Given the description of an element on the screen output the (x, y) to click on. 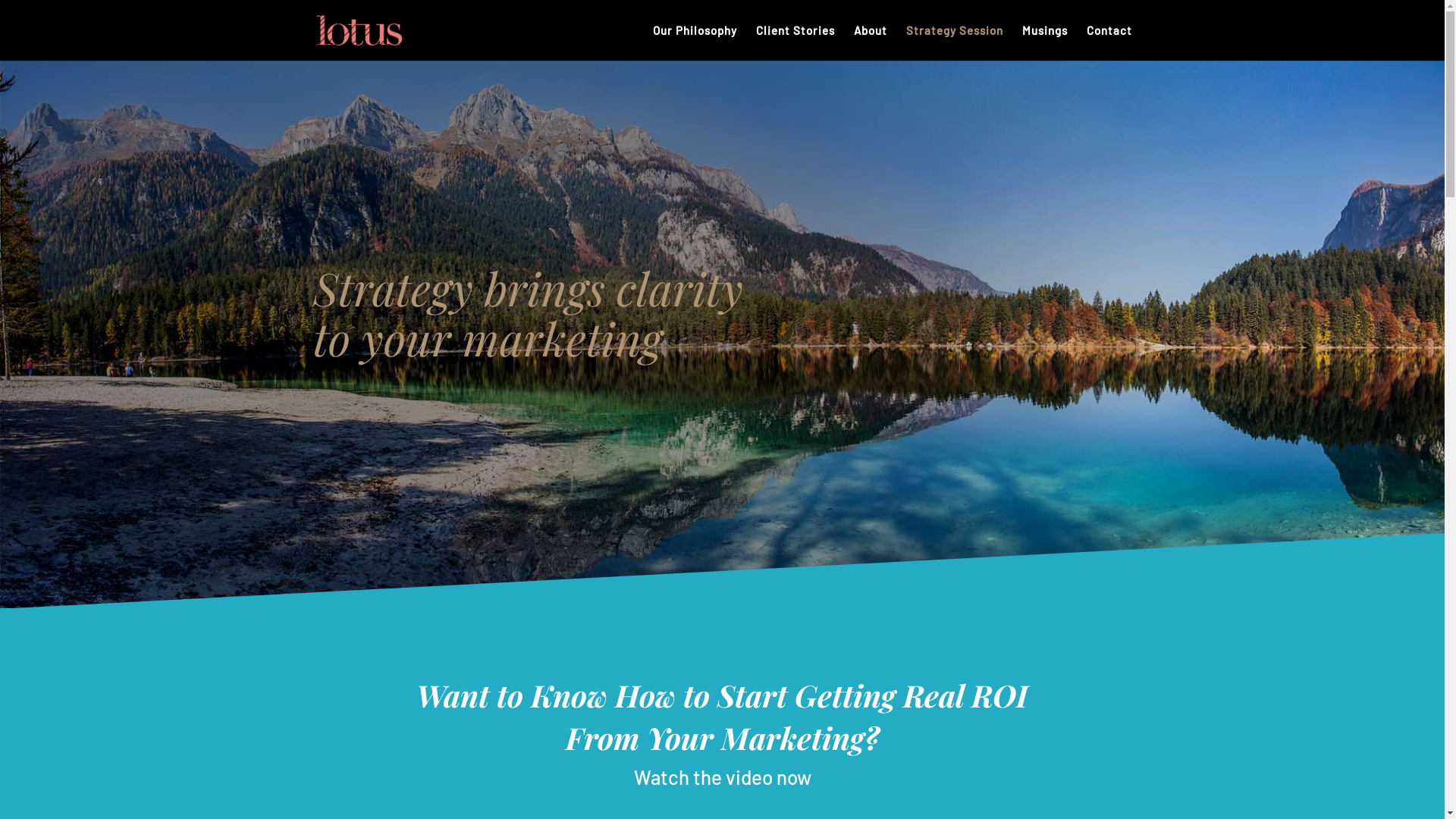
Contact Element type: text (1108, 42)
Musings Element type: text (1044, 42)
Our Philosophy Element type: text (694, 42)
Strategy Session Element type: text (953, 42)
About Element type: text (870, 42)
Client Stories Element type: text (794, 42)
